Given the description of an element on the screen output the (x, y) to click on. 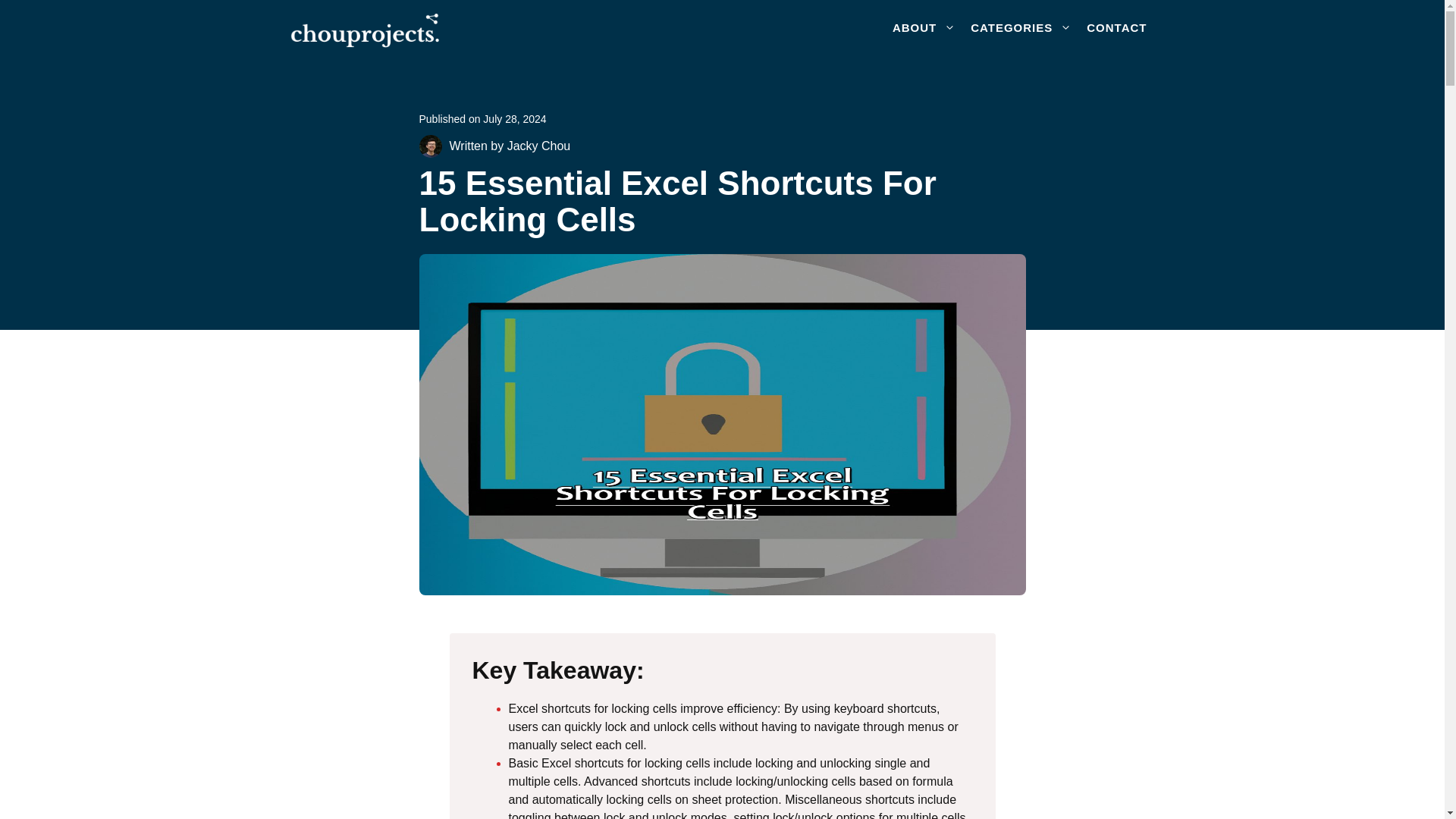
ABOUT (923, 27)
CONTACT (1116, 27)
CATEGORIES (1020, 27)
